Given the description of an element on the screen output the (x, y) to click on. 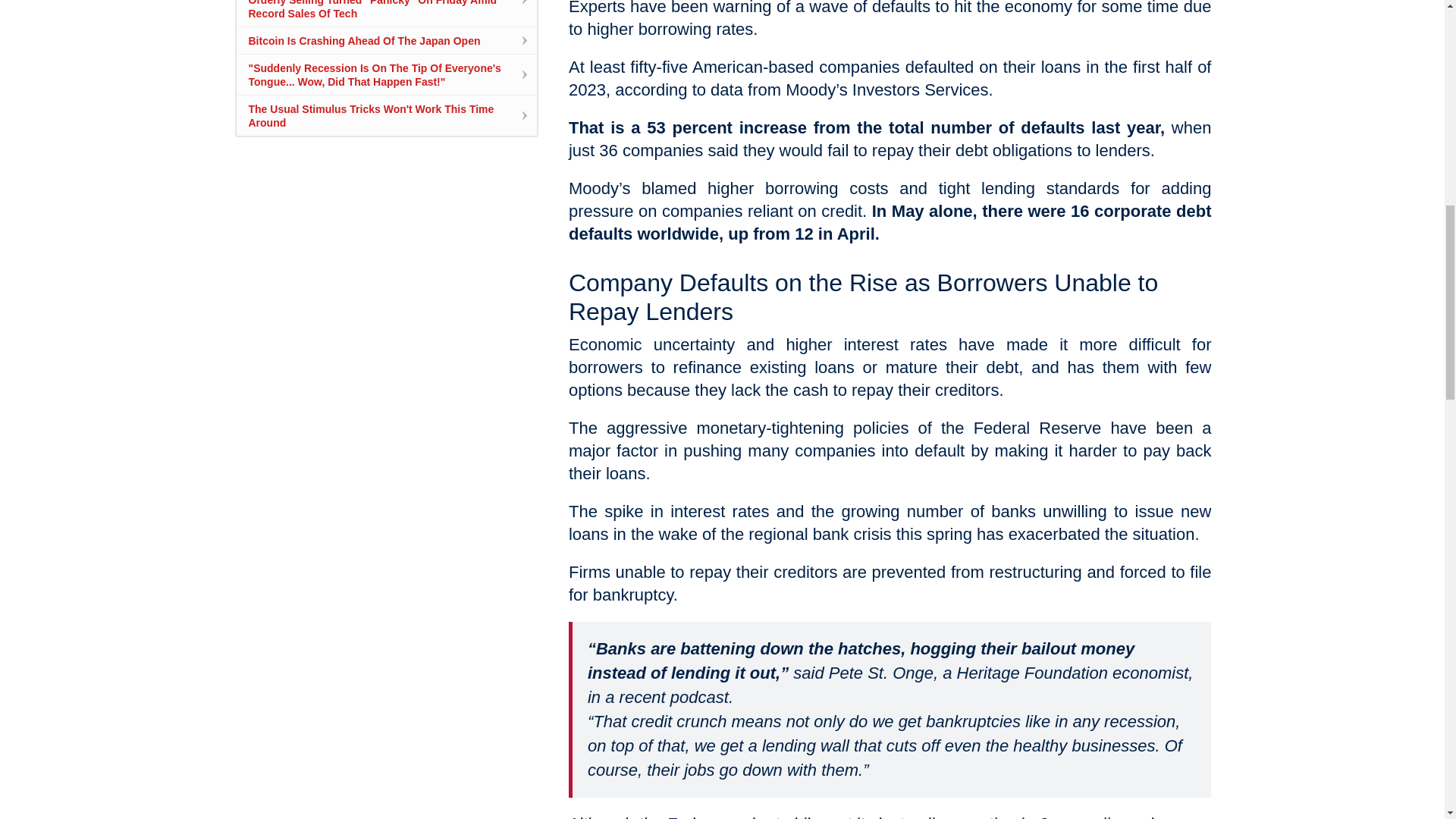
Bitcoin Is Crashing Ahead Of The Japan Open (364, 40)
The Usual Stimulus Tricks Won't Work This Time Around (371, 115)
